Given the description of an element on the screen output the (x, y) to click on. 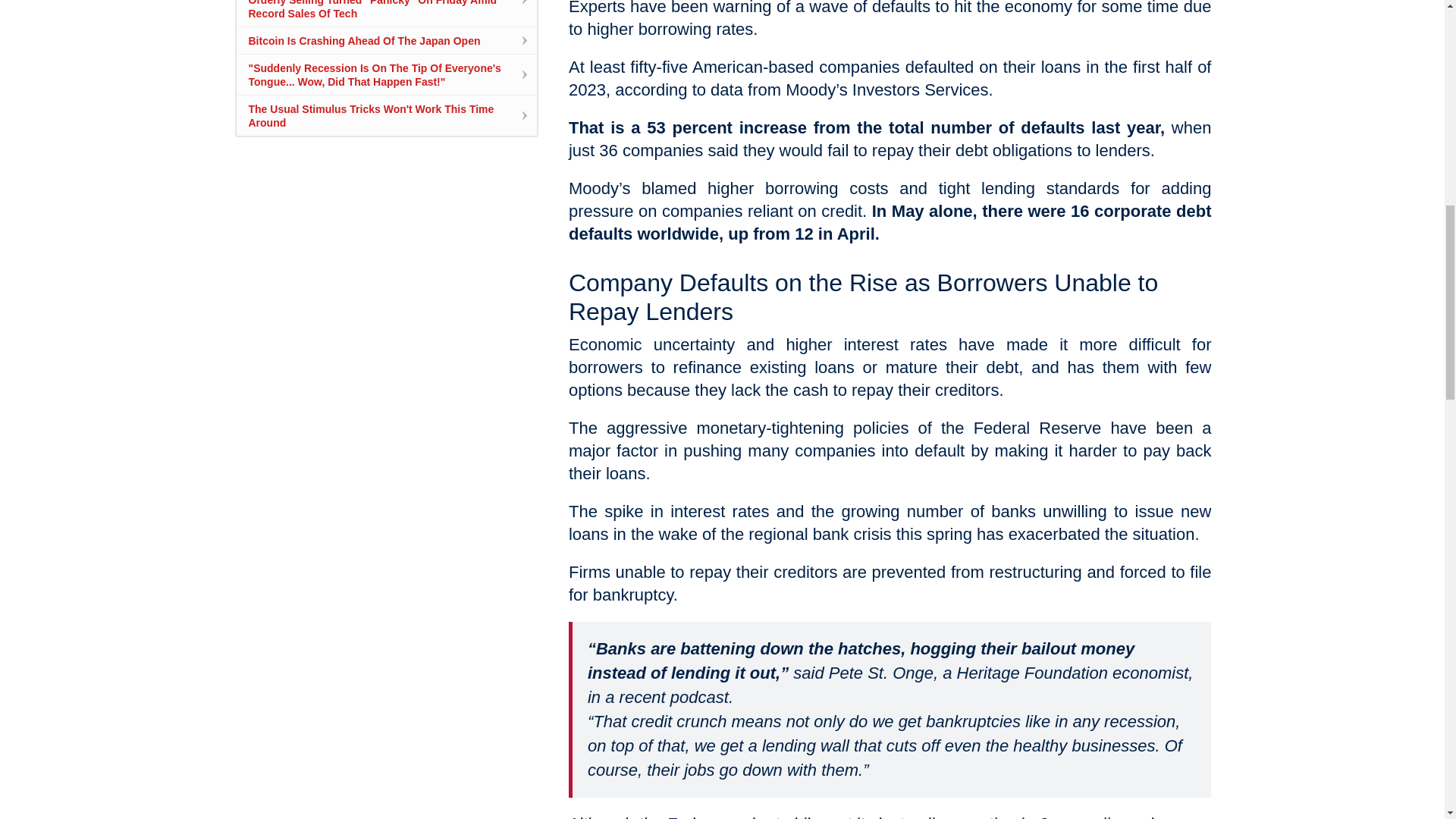
Bitcoin Is Crashing Ahead Of The Japan Open (364, 40)
The Usual Stimulus Tricks Won't Work This Time Around (371, 115)
